Given the description of an element on the screen output the (x, y) to click on. 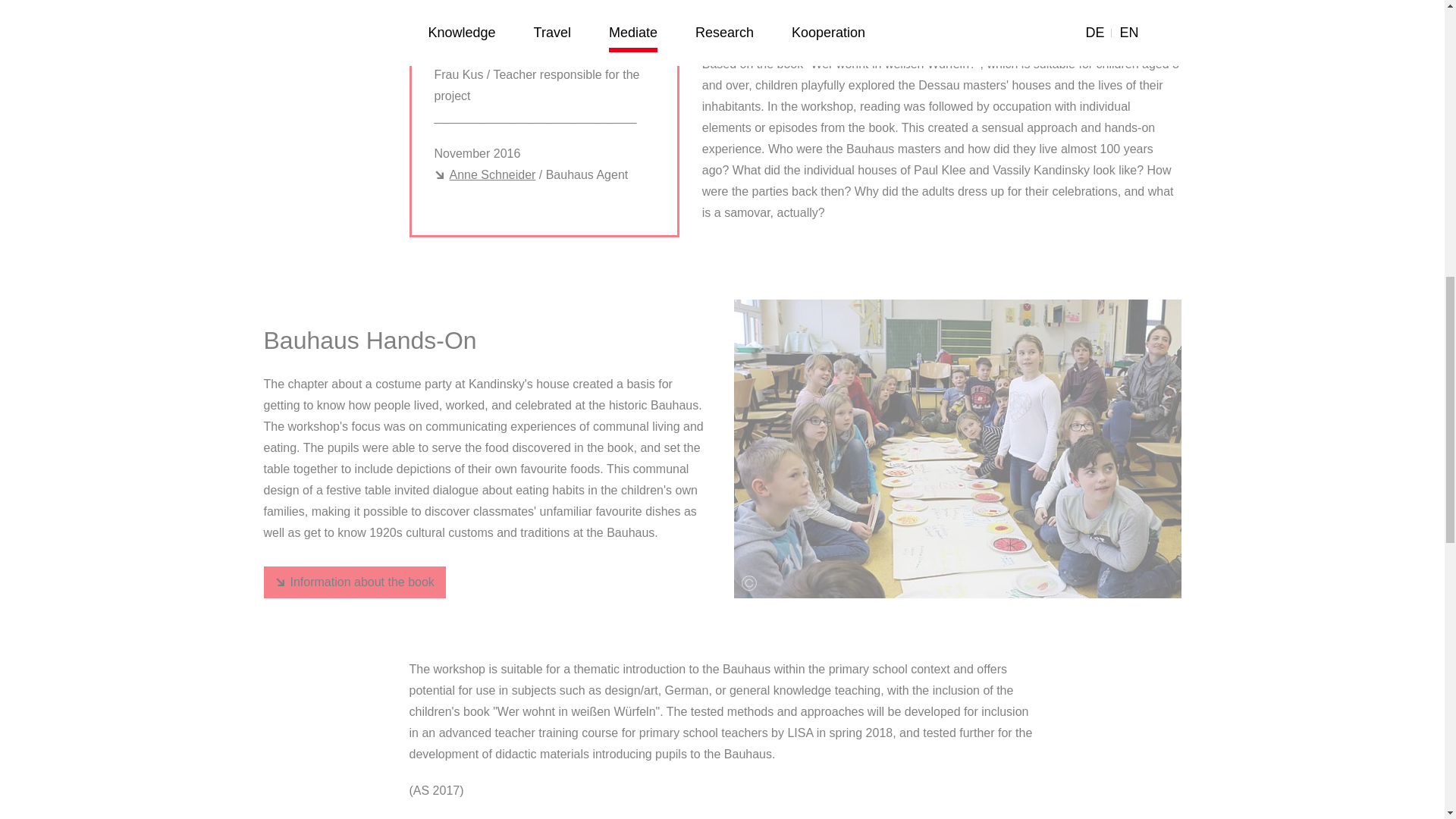
Anne Schneider (484, 174)
Information about the book (354, 582)
To the top (1395, 33)
Grundschule am Luisium (508, 53)
